Given the description of an element on the screen output the (x, y) to click on. 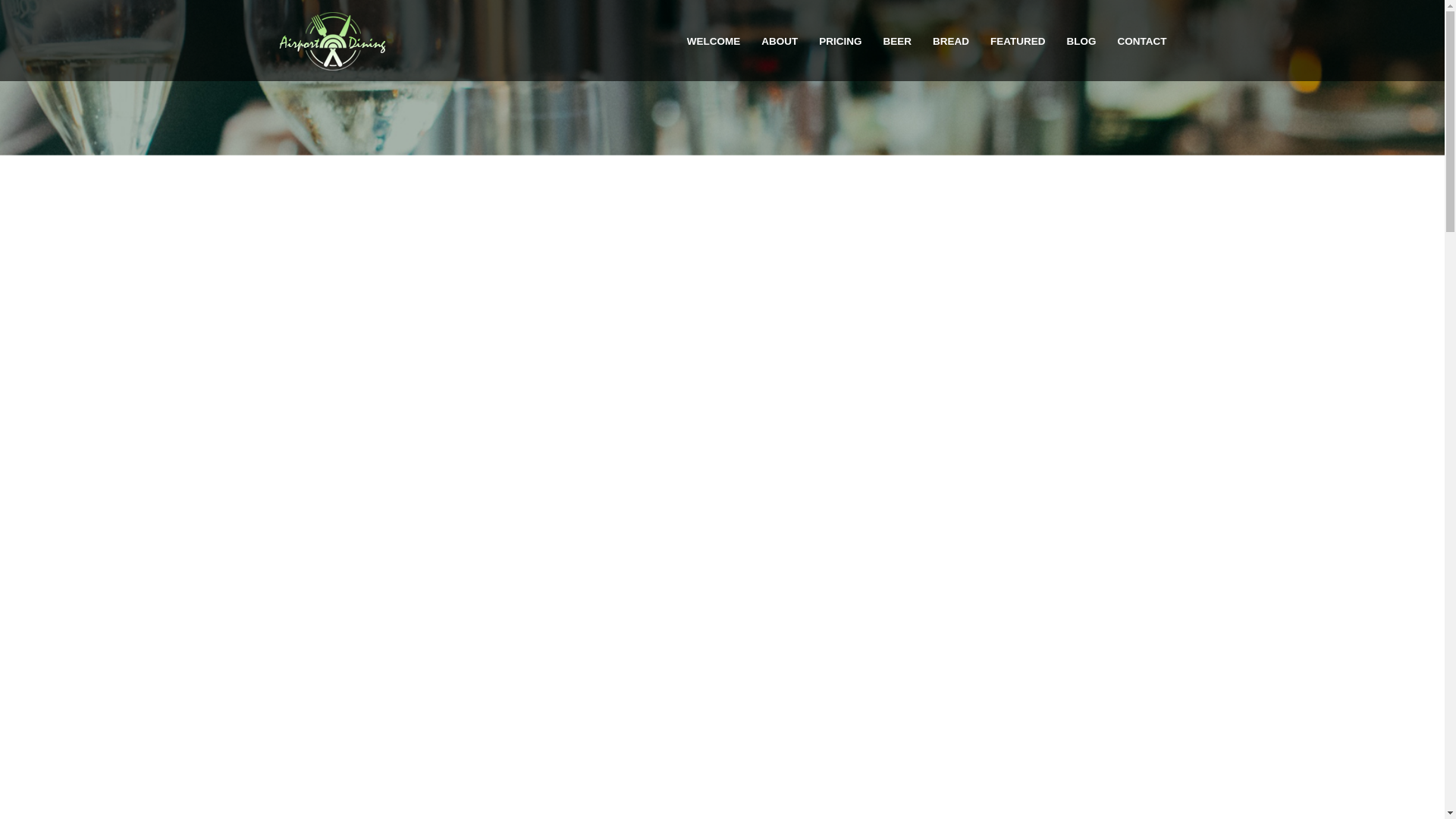
BREAD (950, 41)
ABOUT (779, 41)
WELCOME (713, 41)
CONTACT (1141, 41)
PRICING (840, 41)
FEATURED (1017, 41)
BEER (896, 41)
BLOG (1081, 41)
